Given the description of an element on the screen output the (x, y) to click on. 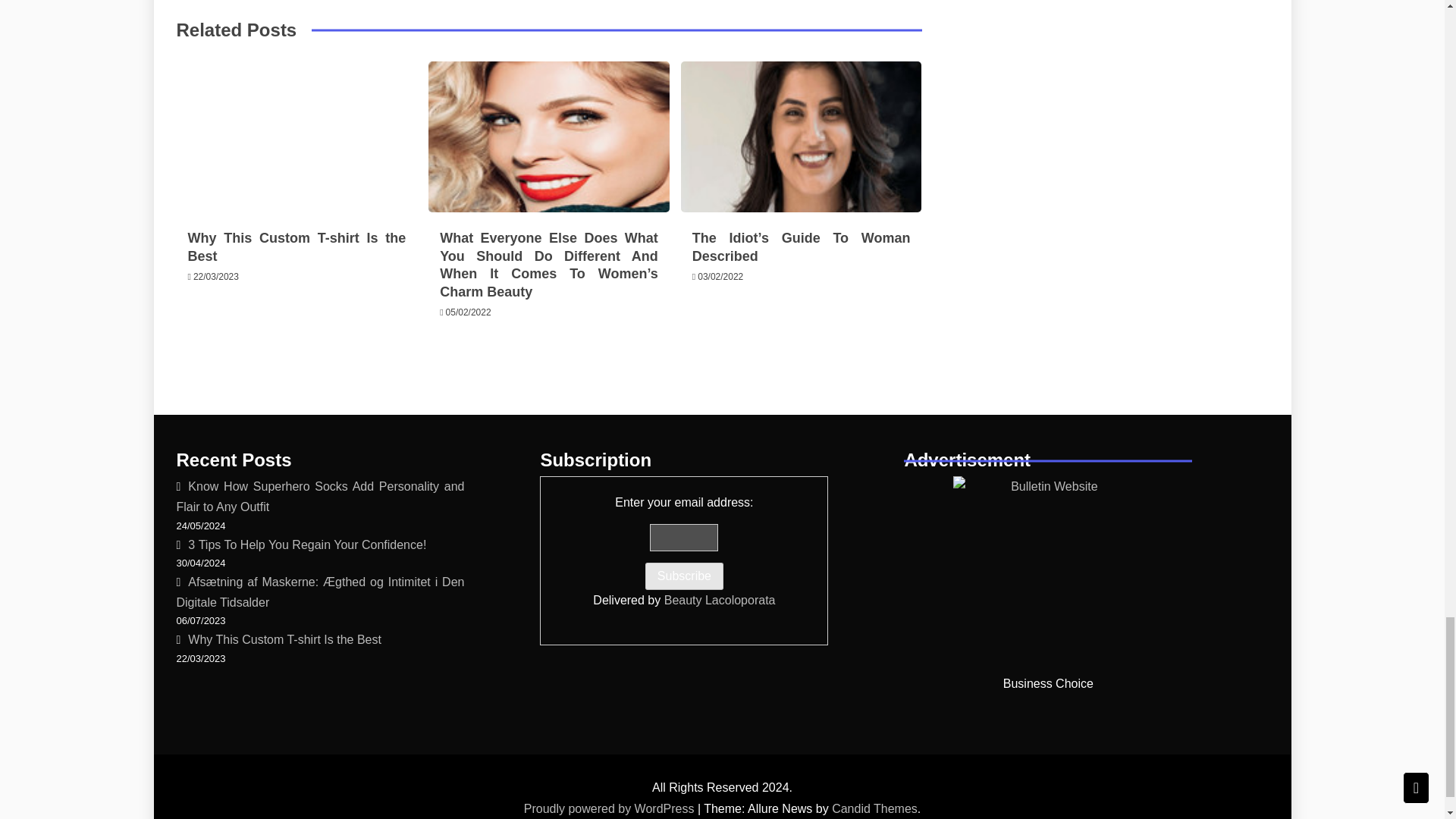
Why This Custom T-shirt Is the Best (296, 246)
Subscribe (684, 575)
The Idiot's Guide To Woman Described (801, 136)
Why This Custom T-shirt Is the Best (296, 136)
